Given the description of an element on the screen output the (x, y) to click on. 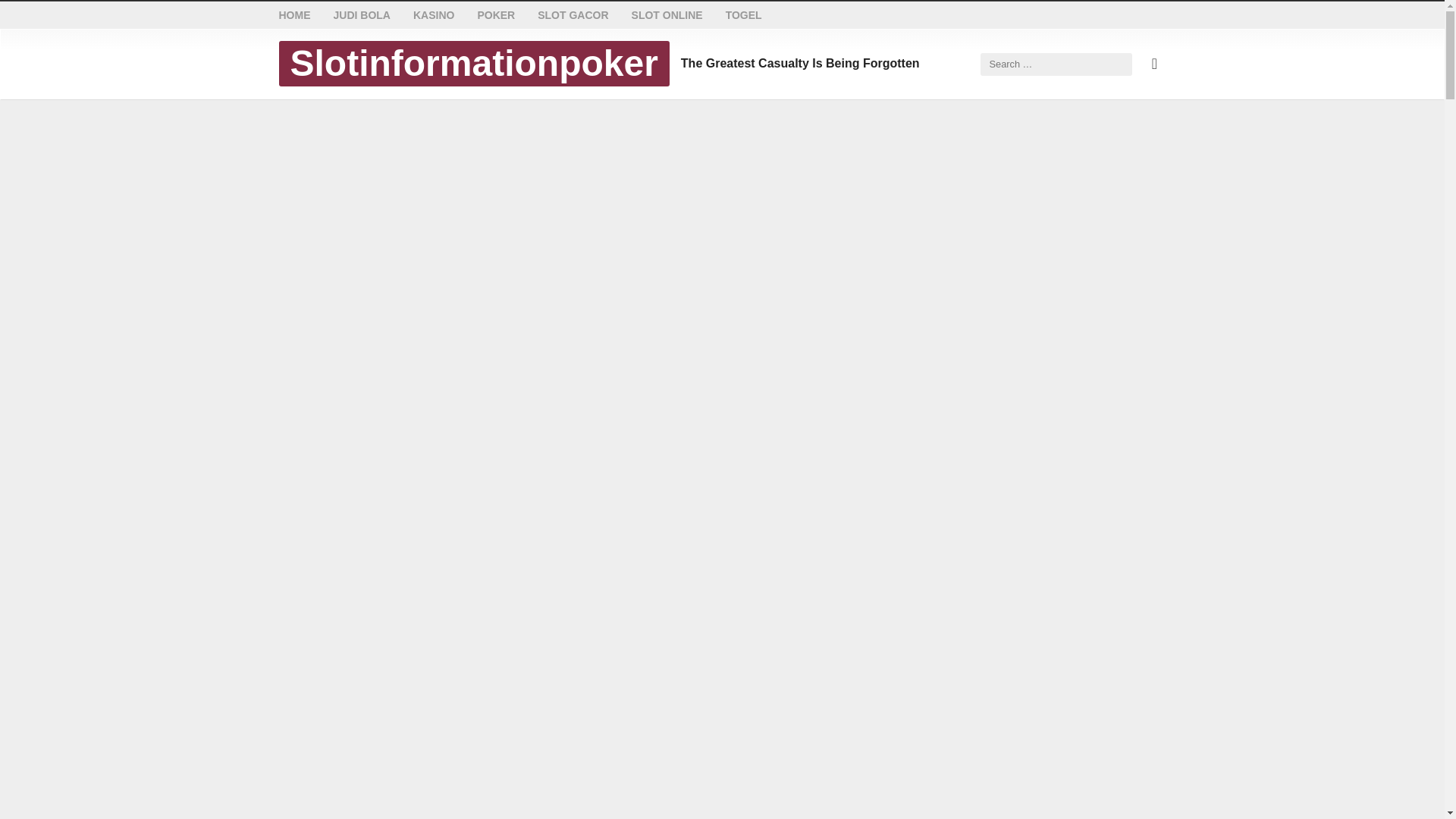
SLOT GACOR (572, 14)
SLOT ONLINE (667, 14)
Slotinformationpoker (473, 63)
KASINO (433, 14)
JUDI BOLA (361, 14)
TOGEL (743, 14)
RSS (1154, 63)
POKER (496, 14)
HOME (295, 14)
Search (37, 17)
